Given the description of an element on the screen output the (x, y) to click on. 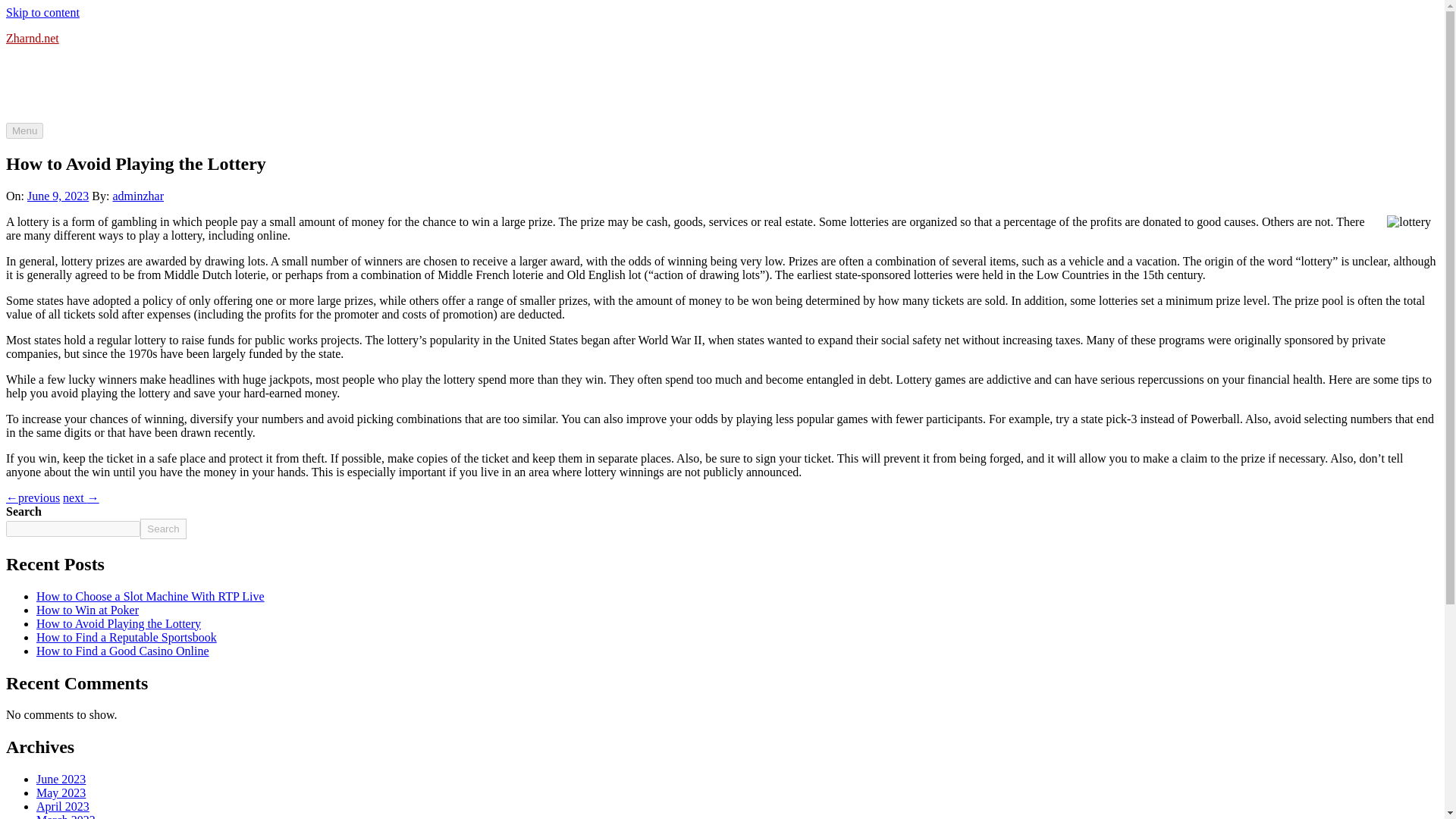
How to Find a Good Casino Online (122, 650)
March 2023 (66, 816)
How to Win at Poker (87, 609)
May 2023 (60, 792)
adminzhar (137, 195)
Search (162, 528)
How to Choose a Slot Machine With RTP Live (150, 595)
How to Avoid Playing the Lottery (118, 623)
April 2023 (62, 806)
Zharnd.net (32, 38)
How to Find a Reputable Sportsbook (126, 636)
Menu (24, 130)
June 9, 2023 (57, 195)
June 2023 (60, 779)
Skip to content (42, 11)
